Given the description of an element on the screen output the (x, y) to click on. 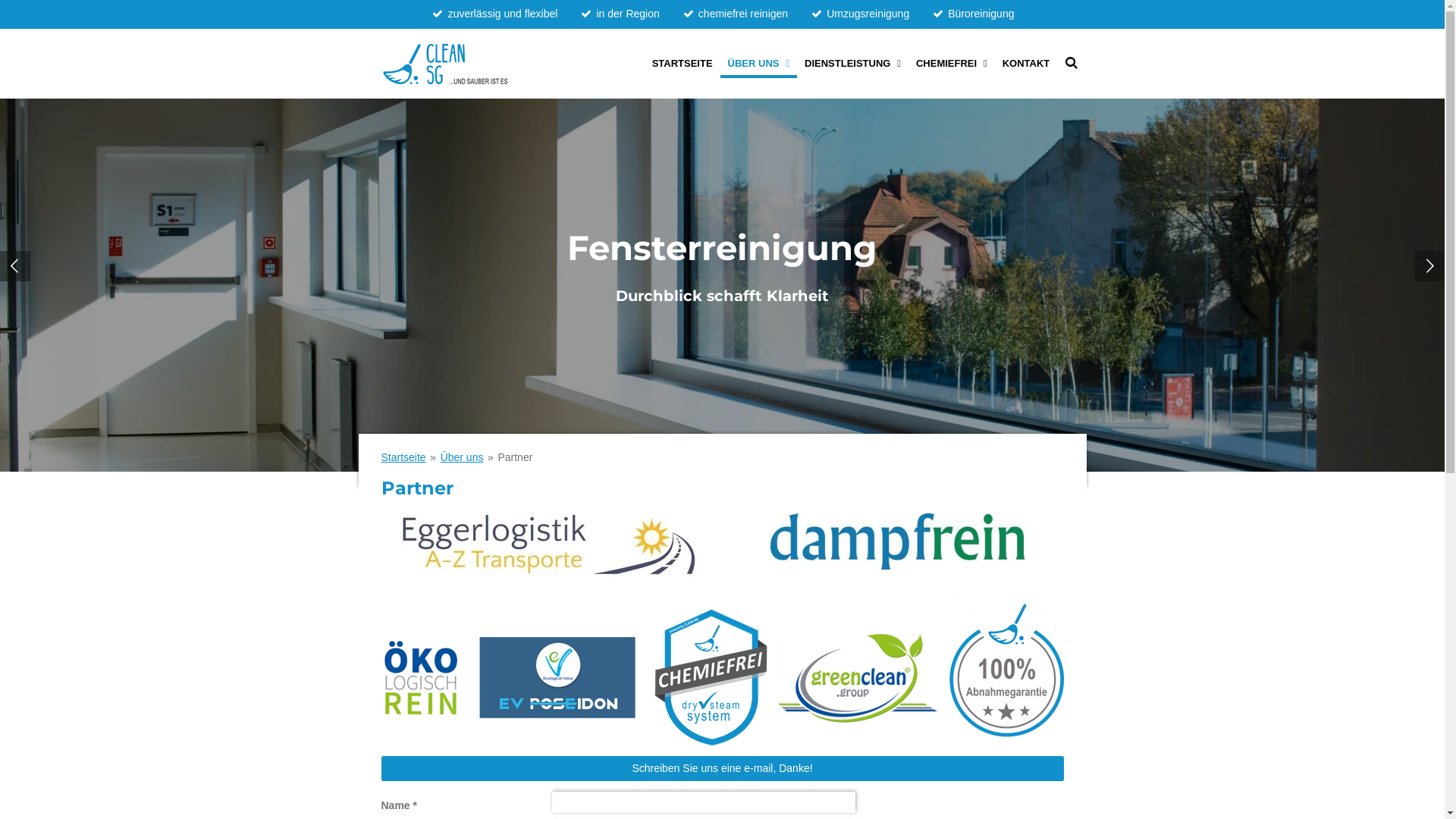
Startseite Element type: text (402, 457)
Schreiben Sie uns eine e-mail, Danke! Element type: text (721, 768)
Suche Element type: hover (1071, 63)
CHEMIEFREI Element type: text (951, 63)
STARTSEITE Element type: text (682, 63)
DIENSTLEISTUNG Element type: text (852, 63)
Partner Element type: text (514, 457)
KONTAKT Element type: text (1025, 63)
